Given the description of an element on the screen output the (x, y) to click on. 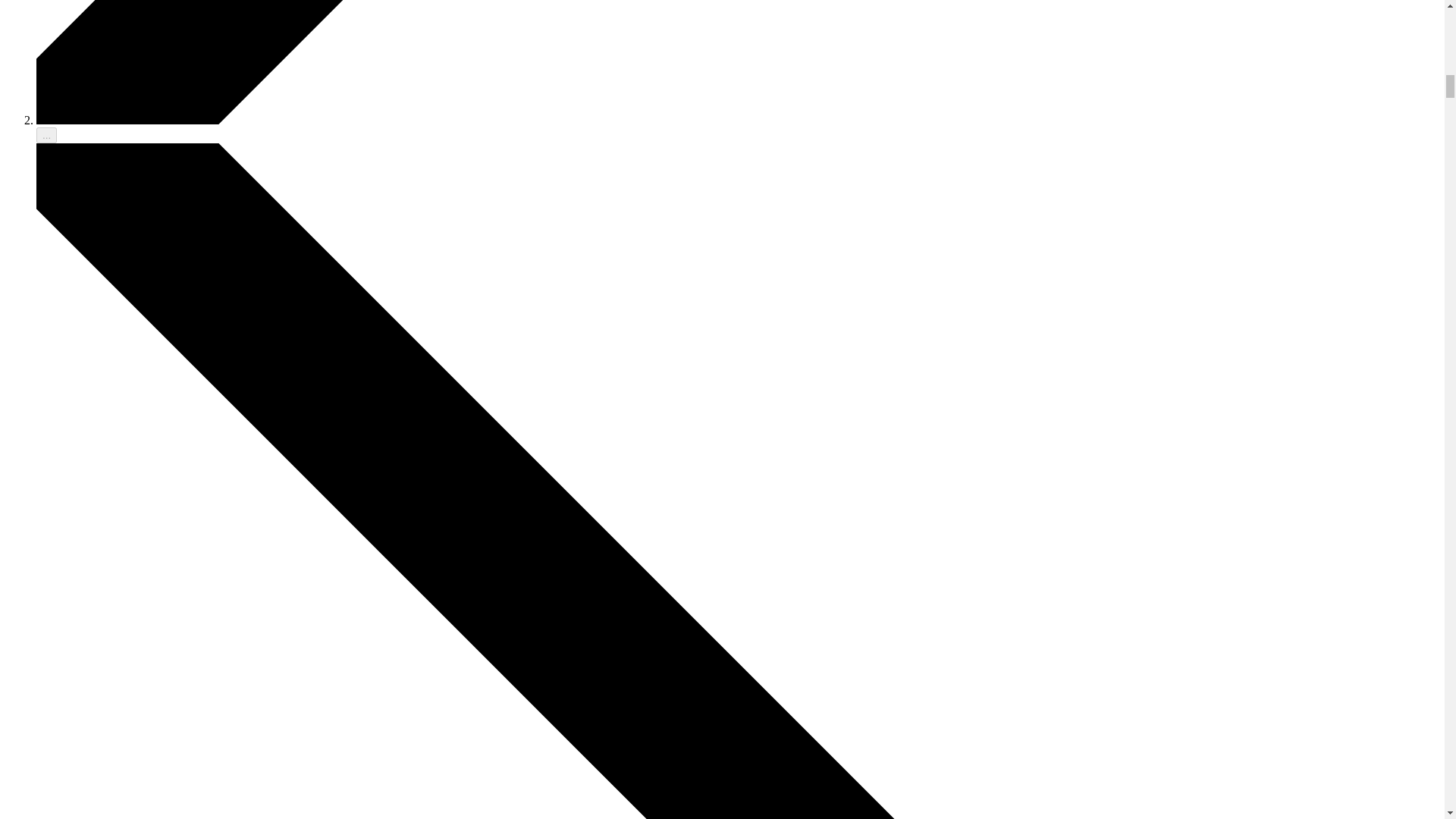
... (46, 135)
